Given the description of an element on the screen output the (x, y) to click on. 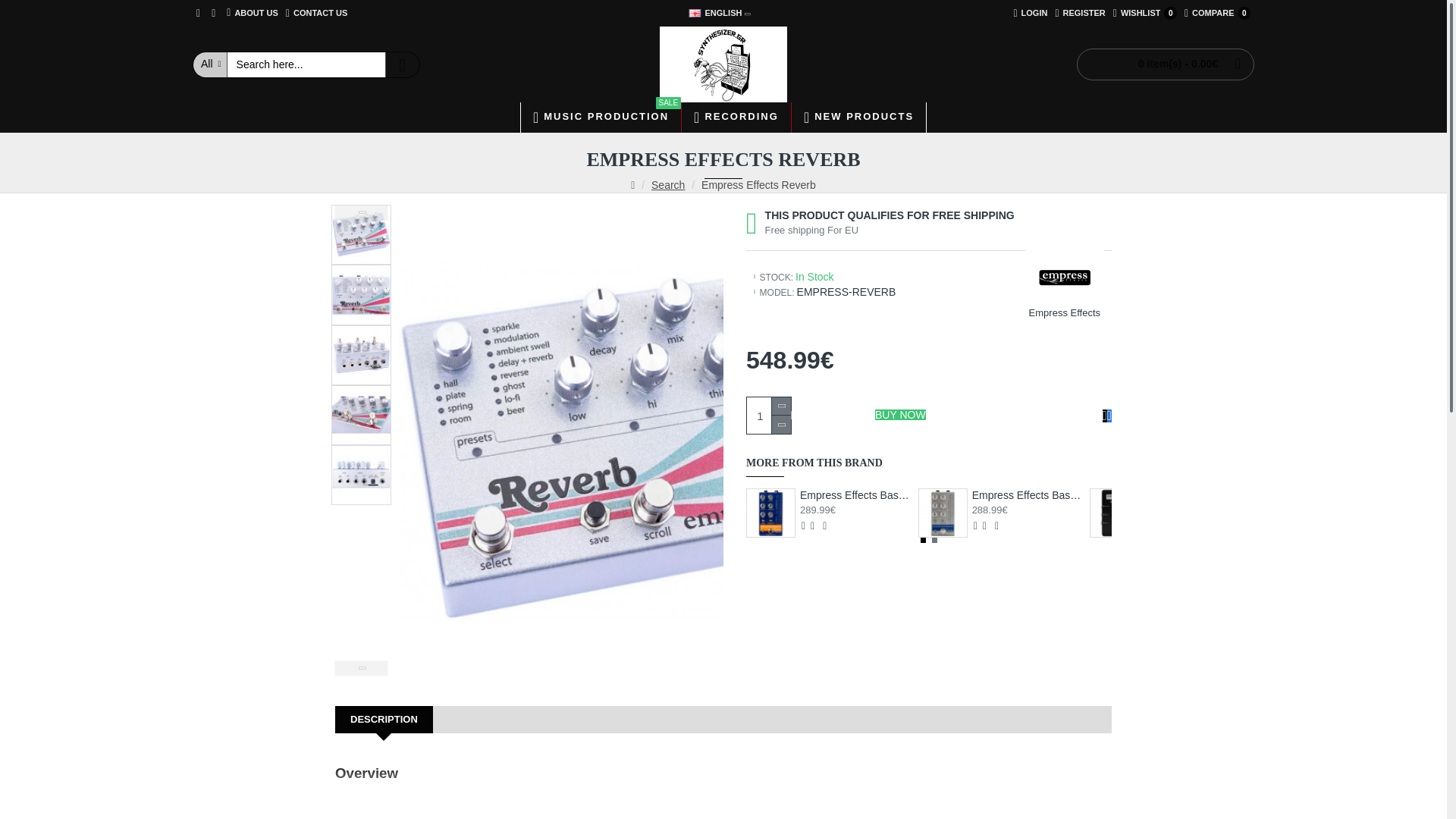
REGISTER (1144, 13)
ABOUT US (1079, 13)
Empress Effects Reverb (252, 13)
1 (361, 234)
English (768, 415)
LOGIN (694, 13)
ENGLISH (1030, 13)
S.F.R. (715, 13)
CONTACT US (723, 64)
Empress Effects Reverb (1216, 13)
